Given the description of an element on the screen output the (x, y) to click on. 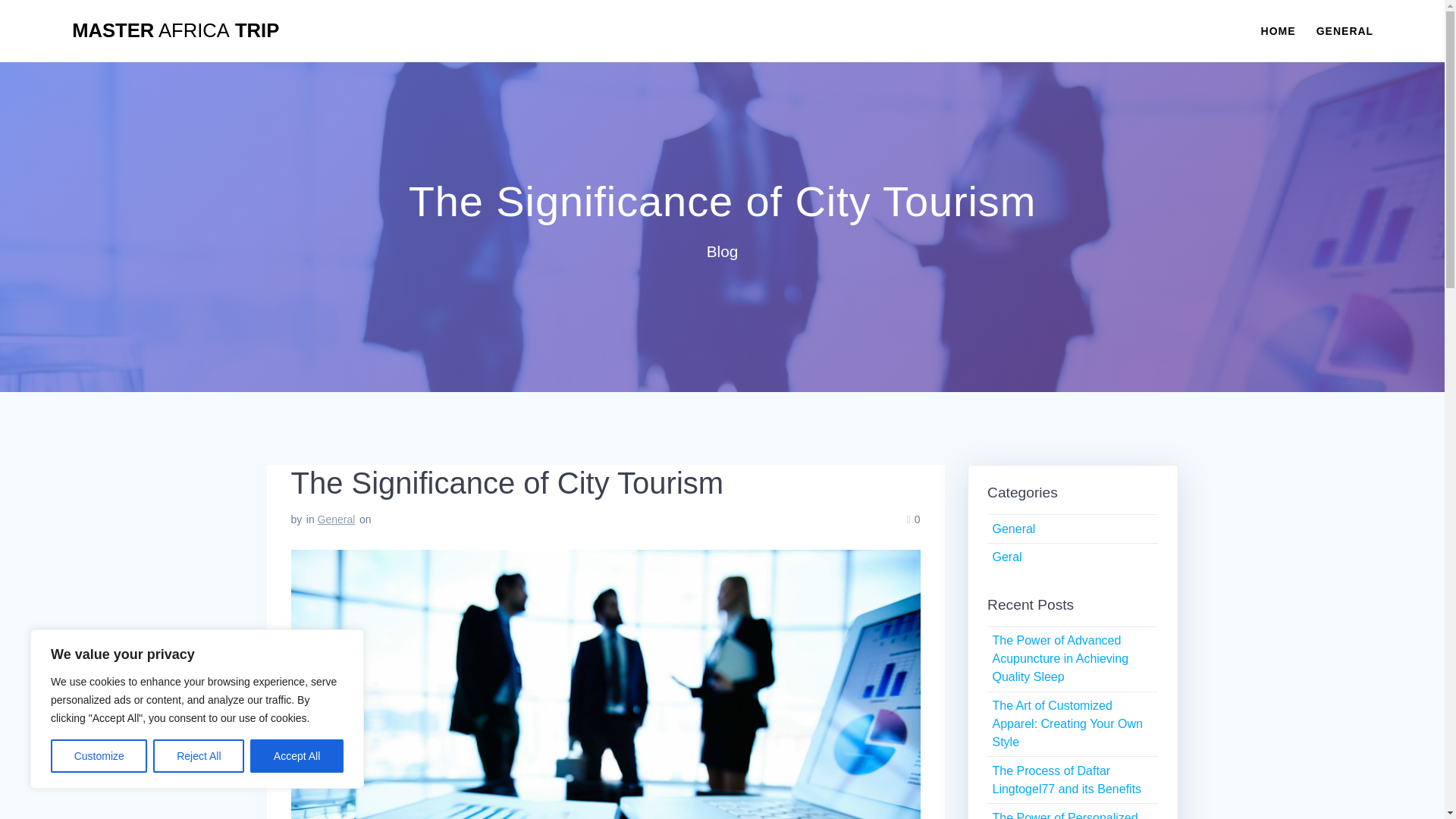
The Power of Advanced Acupuncture in Achieving Quality Sleep (1059, 658)
Geral (1006, 556)
Customize (98, 756)
General (336, 519)
GENERAL (1344, 30)
The Art of Customized Apparel: Creating Your Own Style (1066, 723)
Accept All (296, 756)
HOME (1277, 30)
Reject All (198, 756)
